Given the description of an element on the screen output the (x, y) to click on. 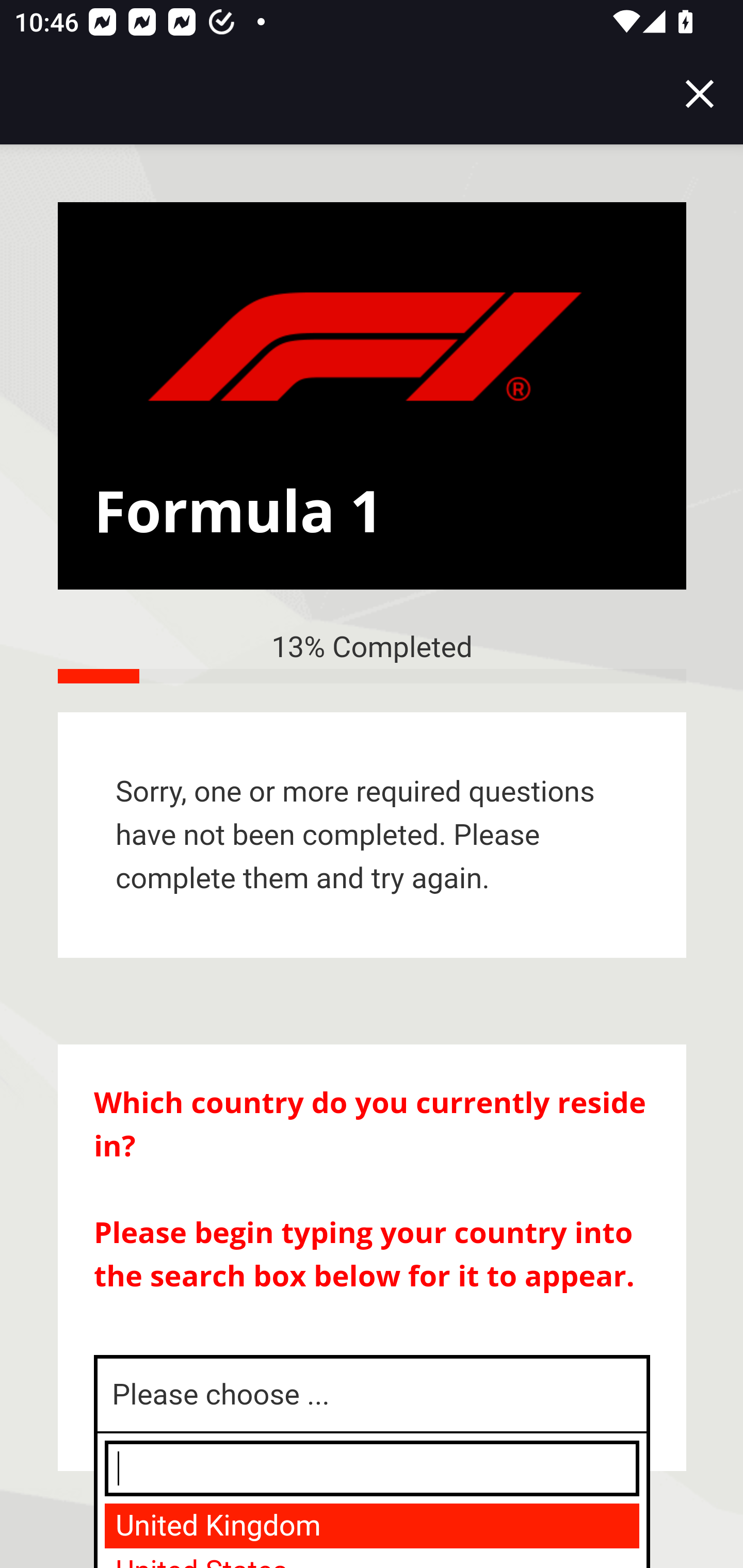
Close (699, 93)
Please choose ... United Kingdom United States (372, 1394)
United Kingdom United States (368, 1535)
